Given the description of an element on the screen output the (x, y) to click on. 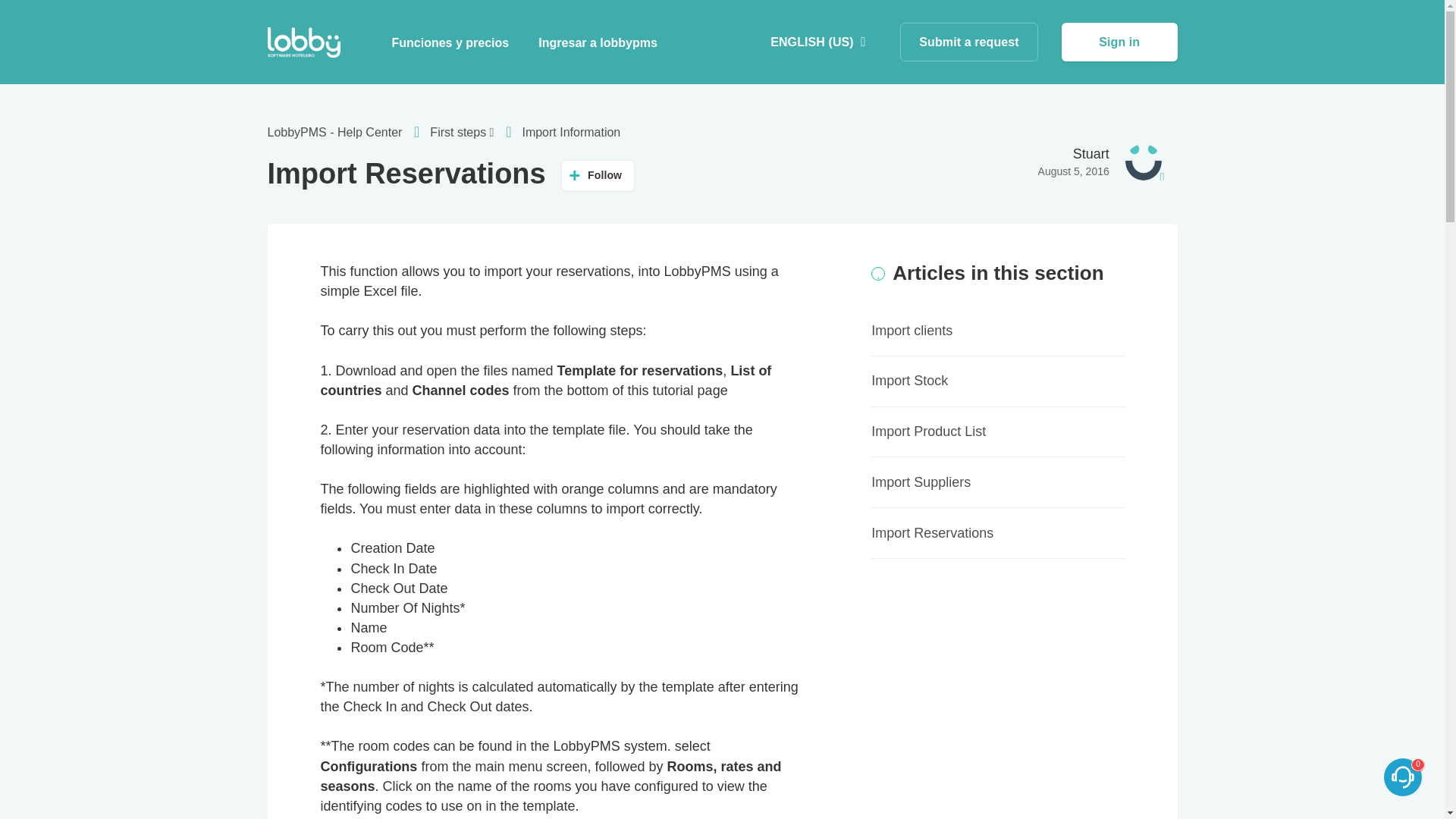
2016-08-05 03:51 (1073, 171)
Opens a sign-in dialog (597, 174)
Home (302, 42)
Search (30, 15)
Opens a dialog (1119, 41)
Import Product List (927, 431)
LobbyPMS - Help Center (333, 132)
Import Information (570, 132)
Ingresar a lobbypms (598, 42)
Submit a request (968, 41)
Sign in (1119, 41)
Import clients (911, 330)
Follow (597, 174)
Funciones y precios (449, 42)
LobbyPMS - Help Center (347, 131)
